Given the description of an element on the screen output the (x, y) to click on. 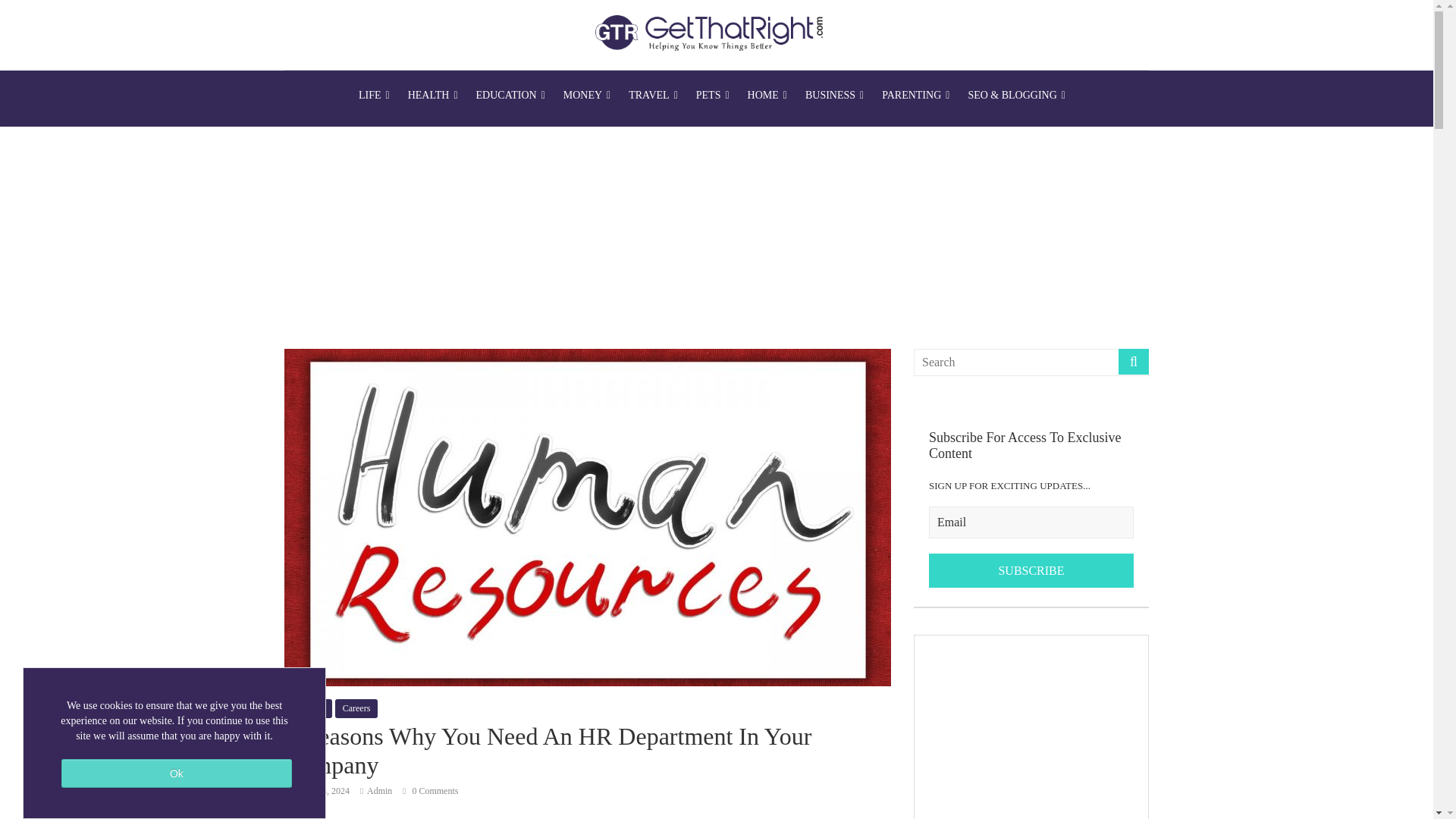
Subscribe (1031, 570)
LIFE (373, 95)
5:27 am (316, 790)
EDUCATION (510, 95)
MONEY (587, 95)
HOME (767, 95)
HEALTH (432, 95)
Admin (378, 790)
Advertisement (1030, 727)
TRAVEL (653, 95)
PETS (712, 95)
